Given the description of an element on the screen output the (x, y) to click on. 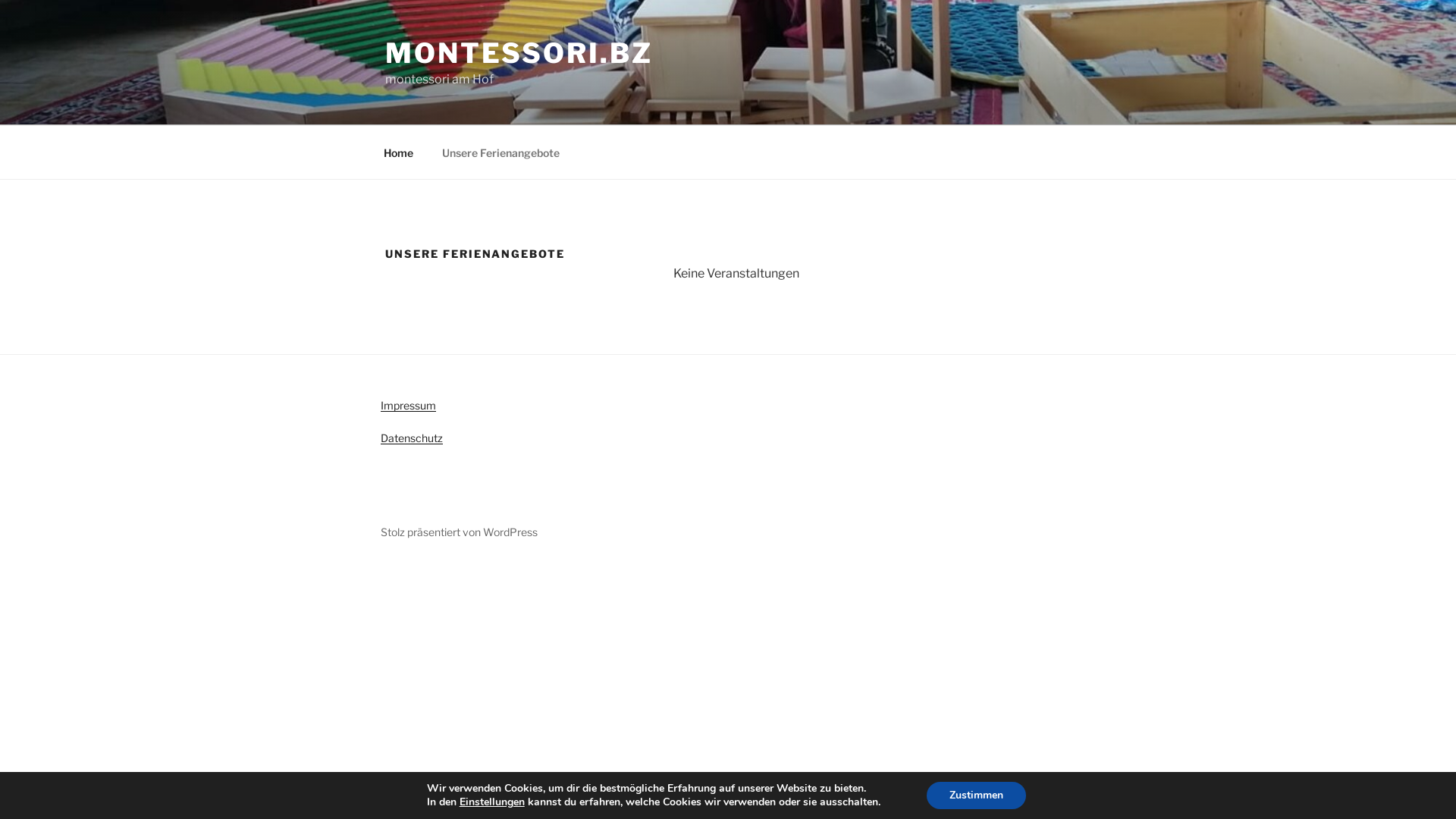
Impressum Element type: text (408, 404)
Zustimmen Element type: text (976, 795)
MONTESSORI.BZ Element type: text (518, 52)
Einstellungen Element type: text (491, 802)
Datenschutz Element type: text (411, 437)
Home Element type: text (398, 151)
Unsere Ferienangebote Element type: text (500, 151)
